Given the description of an element on the screen output the (x, y) to click on. 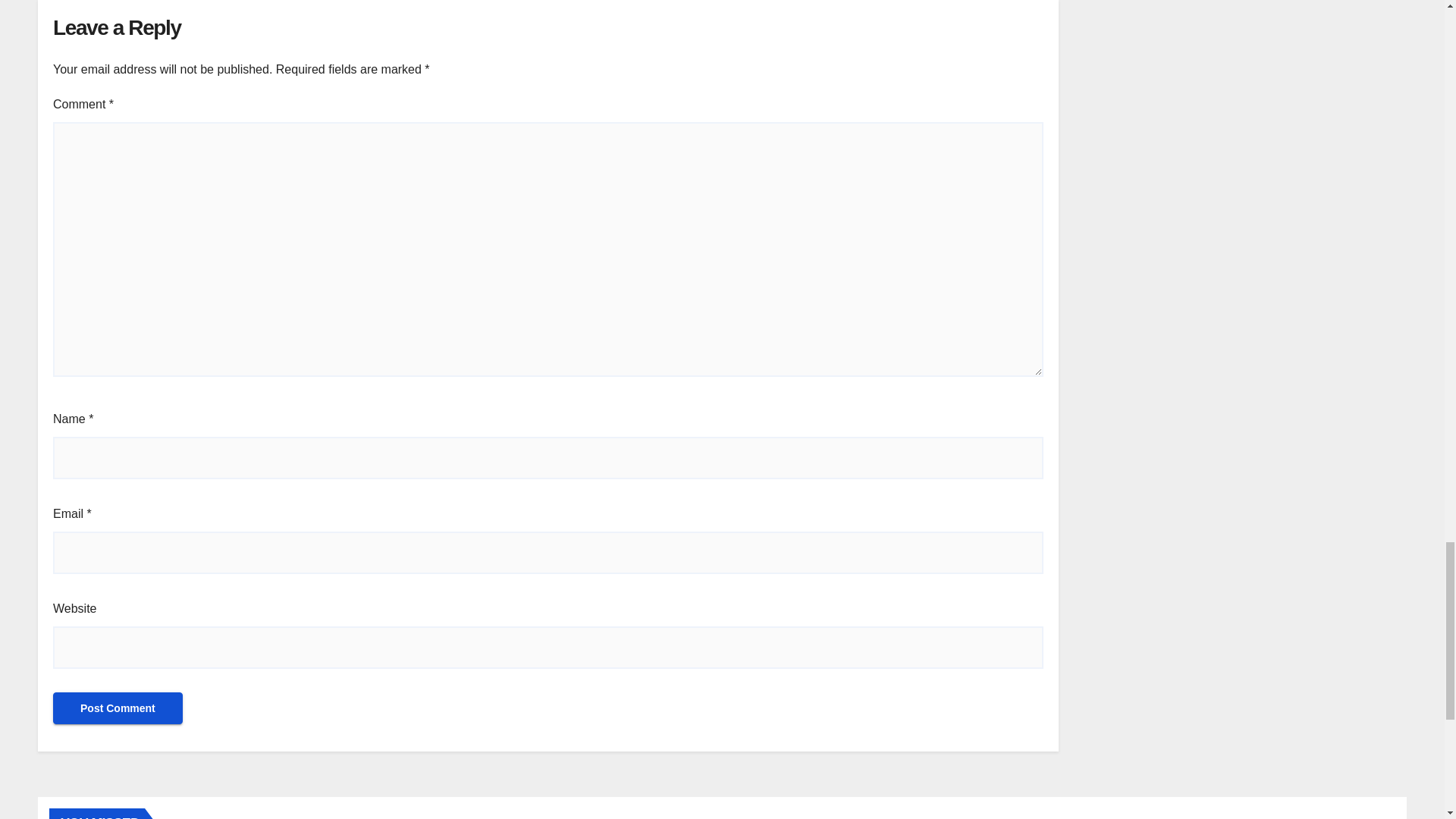
Post Comment (117, 707)
